Given the description of an element on the screen output the (x, y) to click on. 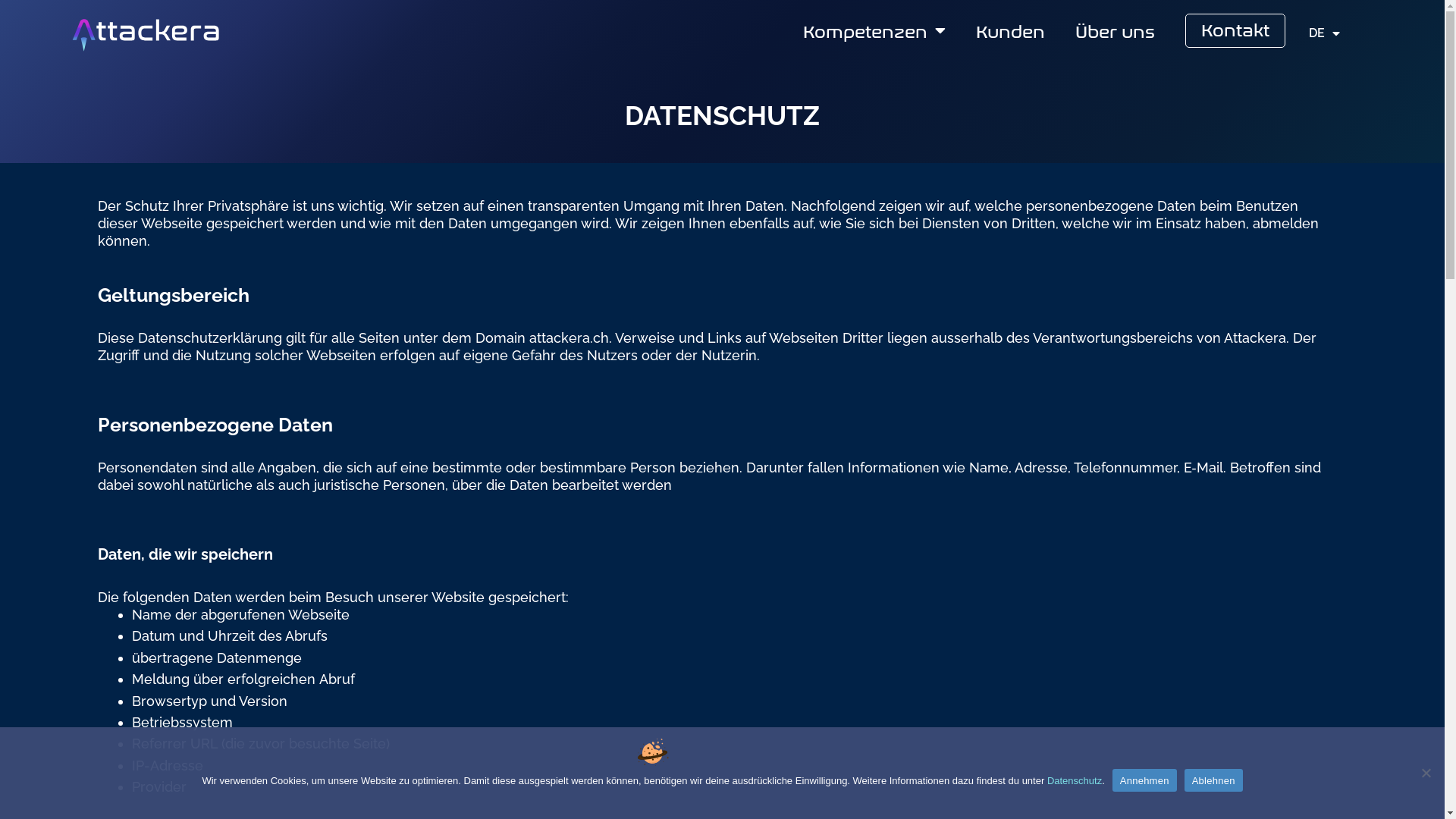
Kompetenzen Element type: text (874, 30)
Kunden Element type: text (1010, 30)
Ablehnen Element type: hover (1425, 772)
Datenschutz Element type: text (1074, 780)
DE Element type: text (1324, 32)
Kontakt Element type: text (1234, 27)
Annehmen Element type: text (1144, 779)
Ablehnen Element type: text (1213, 779)
Zum Inhalt springen Element type: text (15, 7)
